Given the description of an element on the screen output the (x, y) to click on. 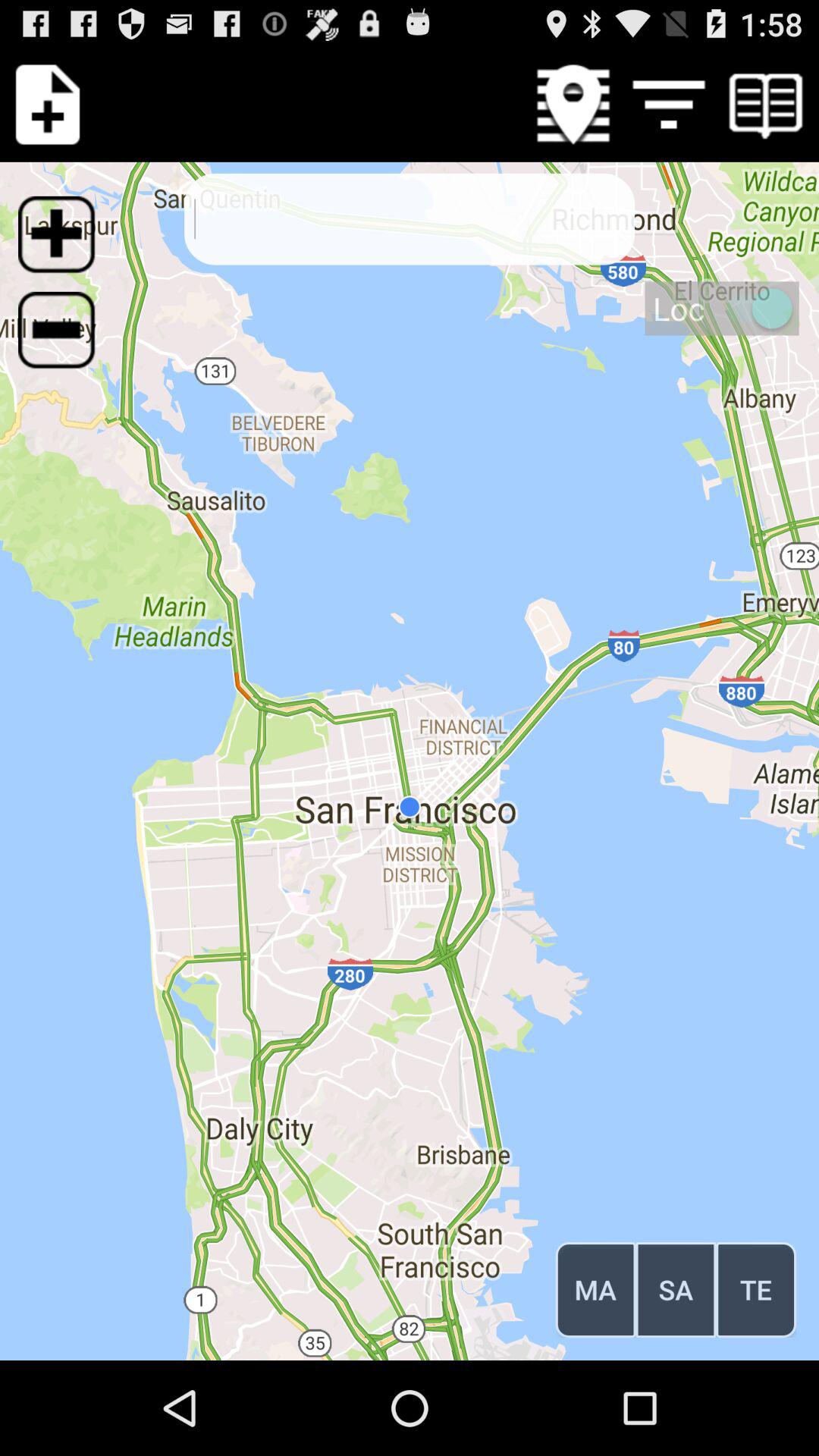
open ma item (595, 1289)
